Given the description of an element on the screen output the (x, y) to click on. 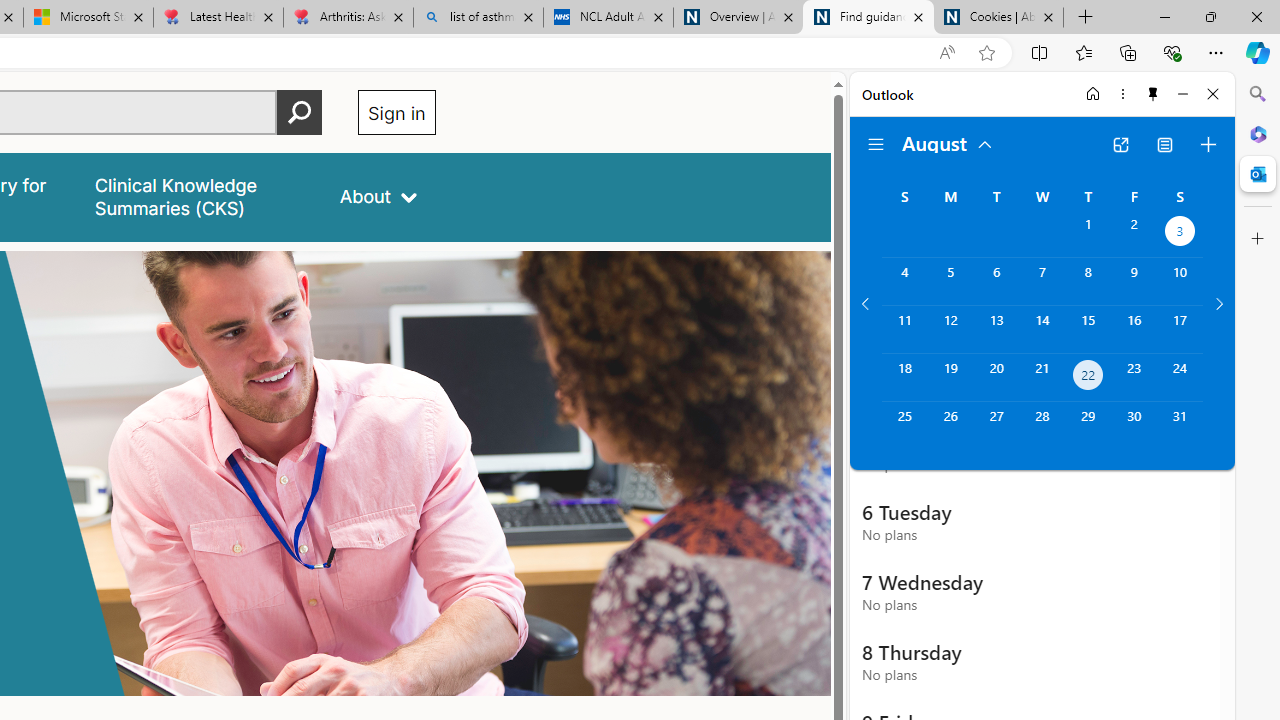
Sunday, August 11, 2024.  (904, 329)
